Given the description of an element on the screen output the (x, y) to click on. 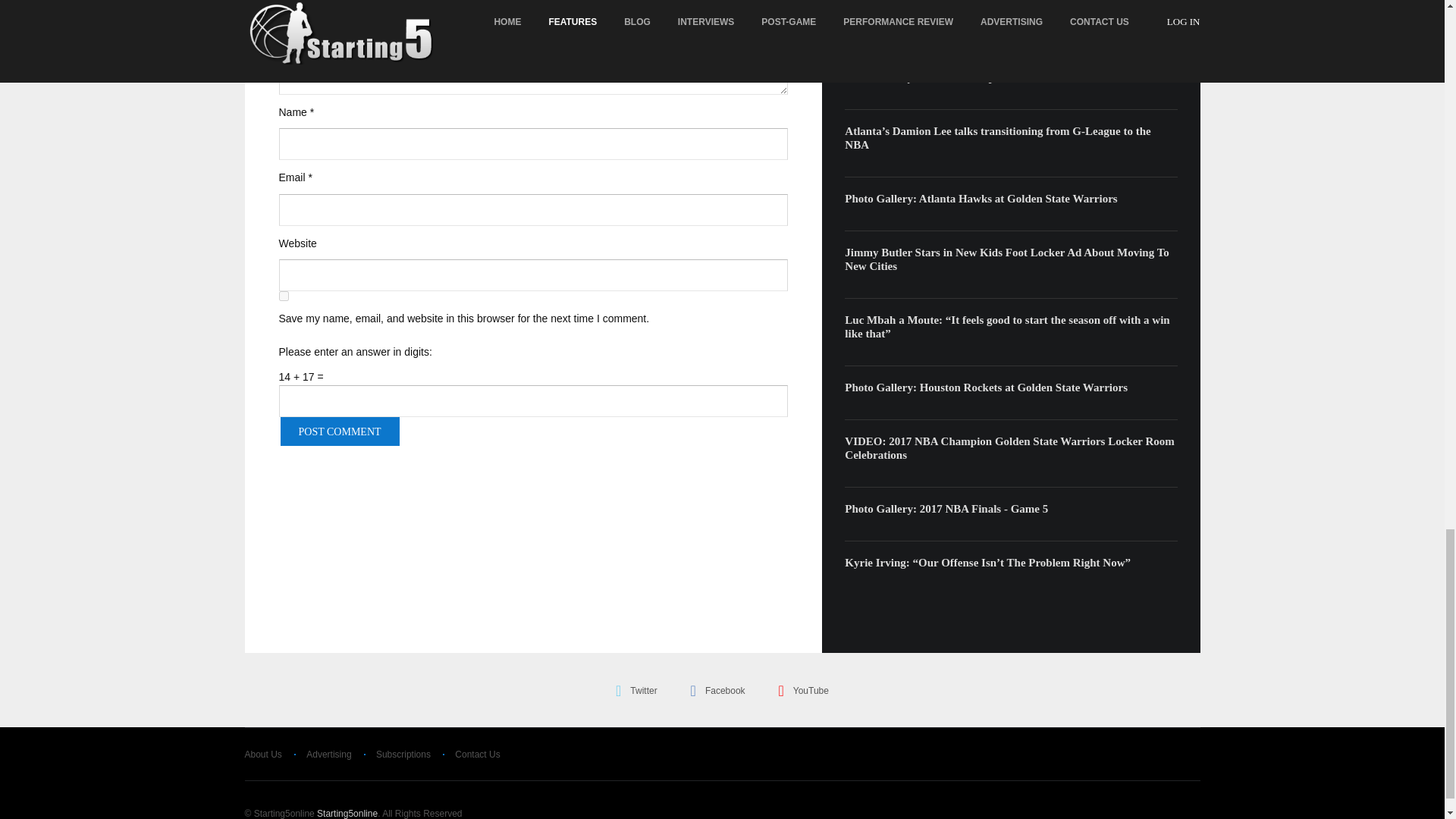
Post Comment (339, 430)
Post Comment (339, 430)
yes (283, 296)
